Given the description of an element on the screen output the (x, y) to click on. 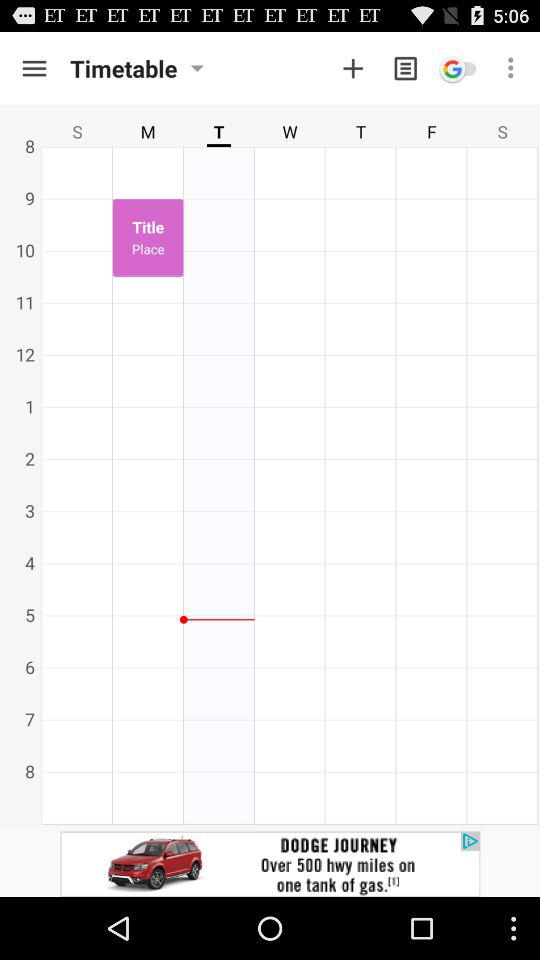
go to screenshot (353, 68)
